Given the description of an element on the screen output the (x, y) to click on. 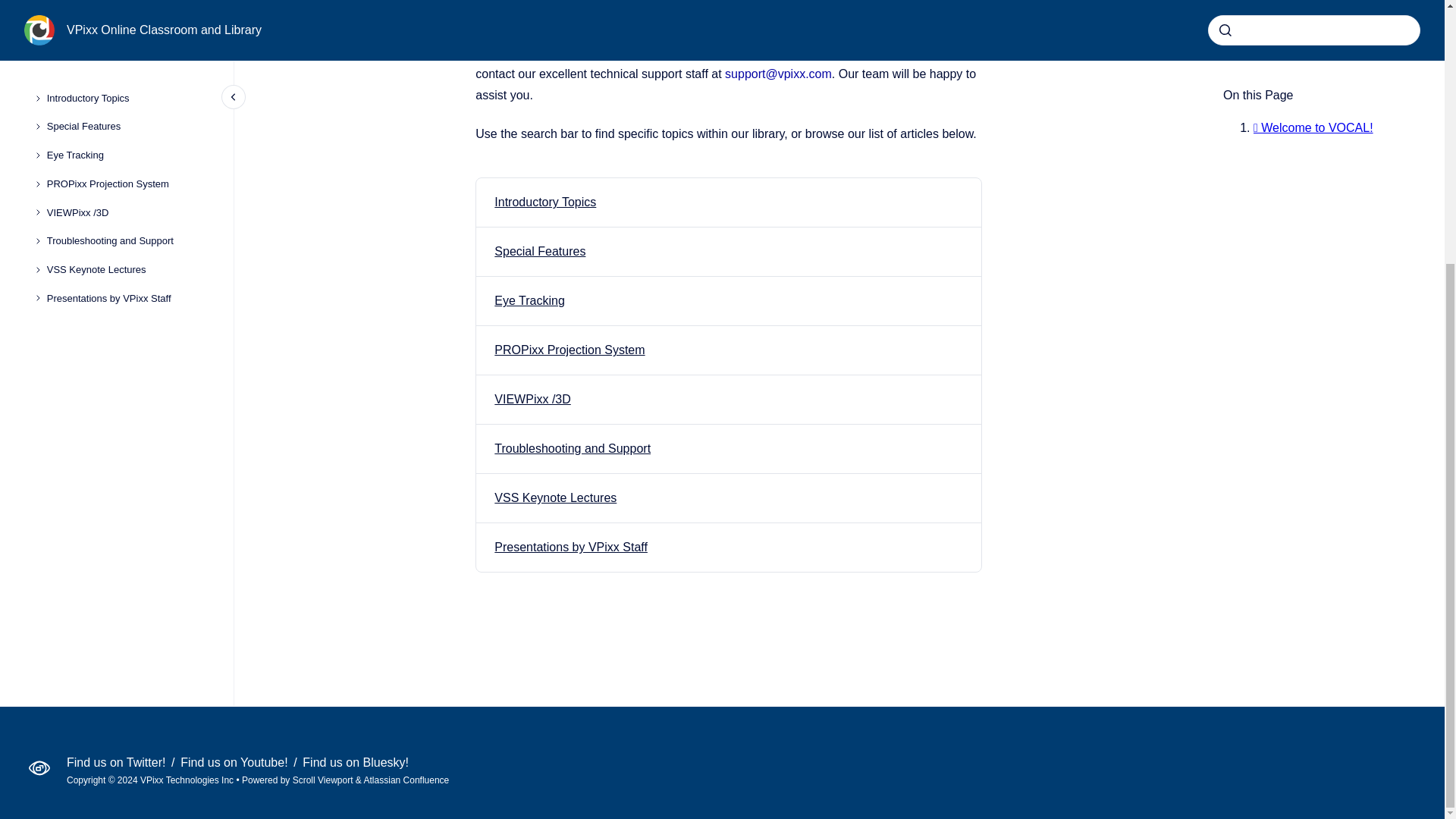
Find us on Youtube! (235, 762)
PROPixx Projection System (570, 349)
Eye Tracking (529, 300)
Presentations by VPixx Staff (571, 546)
Special Features (540, 250)
Troubleshooting and Support (572, 448)
PROPixx Projection System (570, 349)
Special Features (540, 250)
Atlassian Confluence (406, 779)
Introductory Topics (545, 201)
Eye Tracking (529, 300)
Troubleshooting and Support (572, 448)
Presentations by VPixx Staff (571, 546)
Introductory Topics (545, 201)
Find us on Twitter! (117, 762)
